Given the description of an element on the screen output the (x, y) to click on. 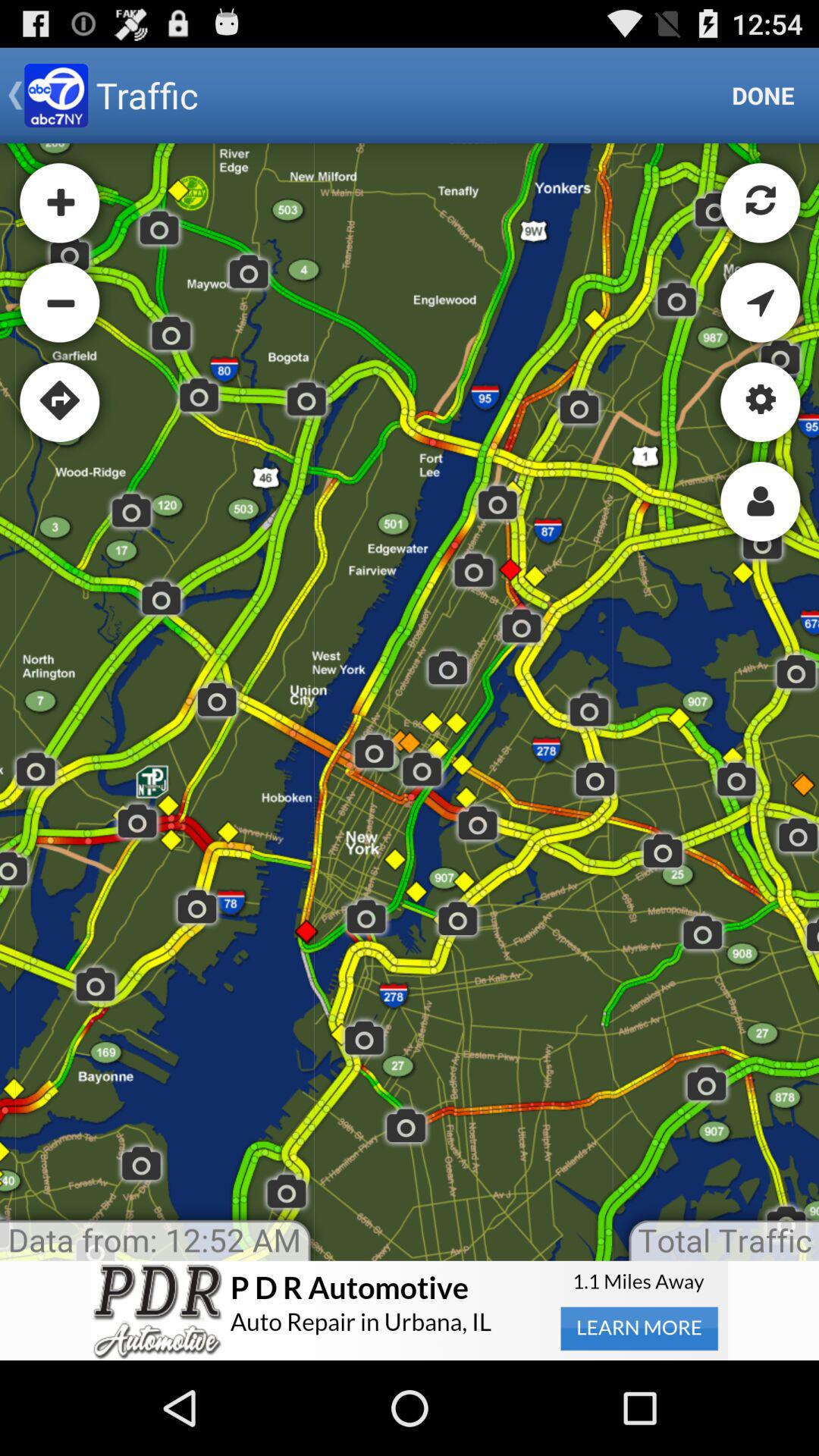
location button (409, 1310)
